Given the description of an element on the screen output the (x, y) to click on. 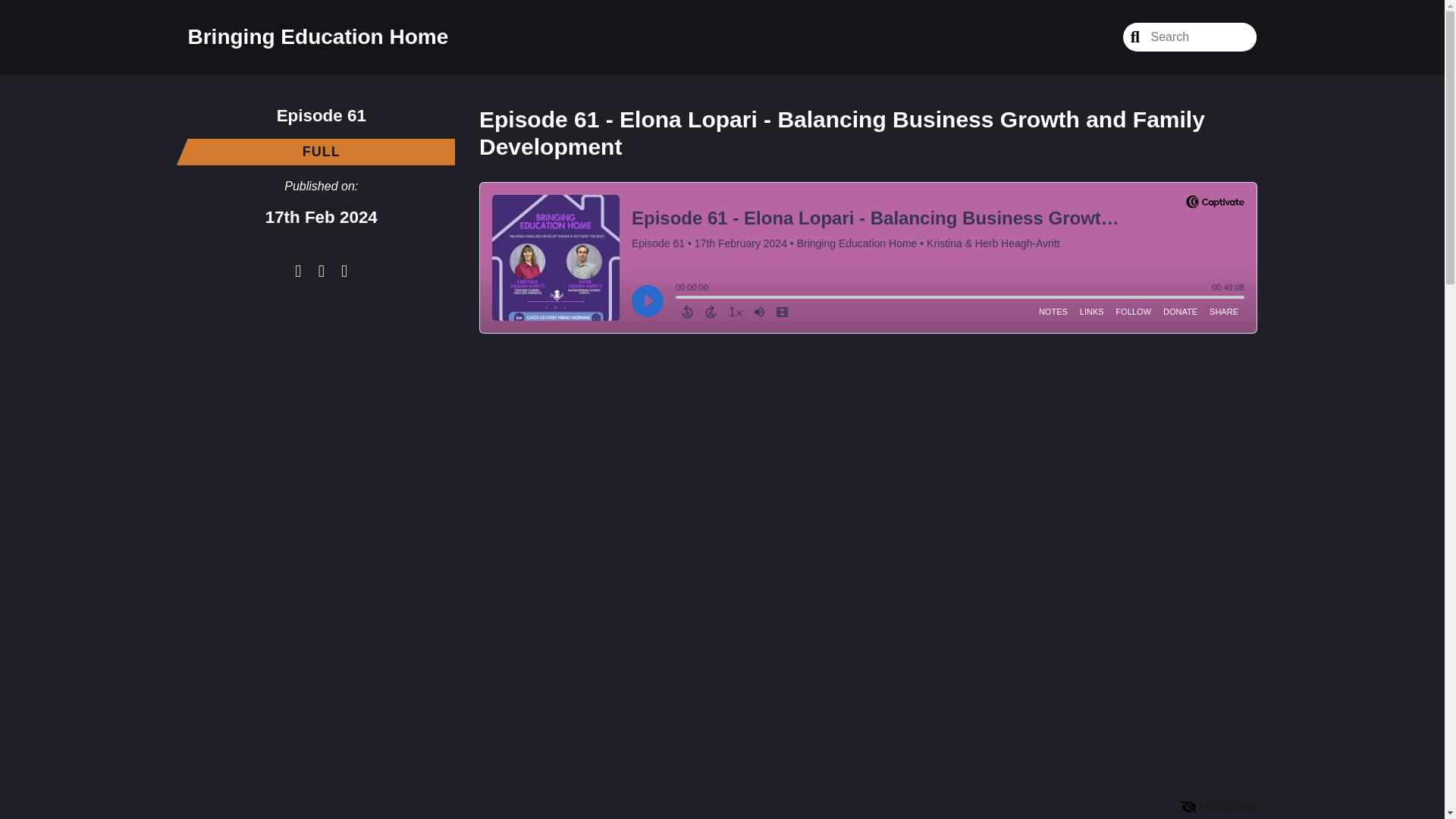
Hide video (1218, 807)
